Given the description of an element on the screen output the (x, y) to click on. 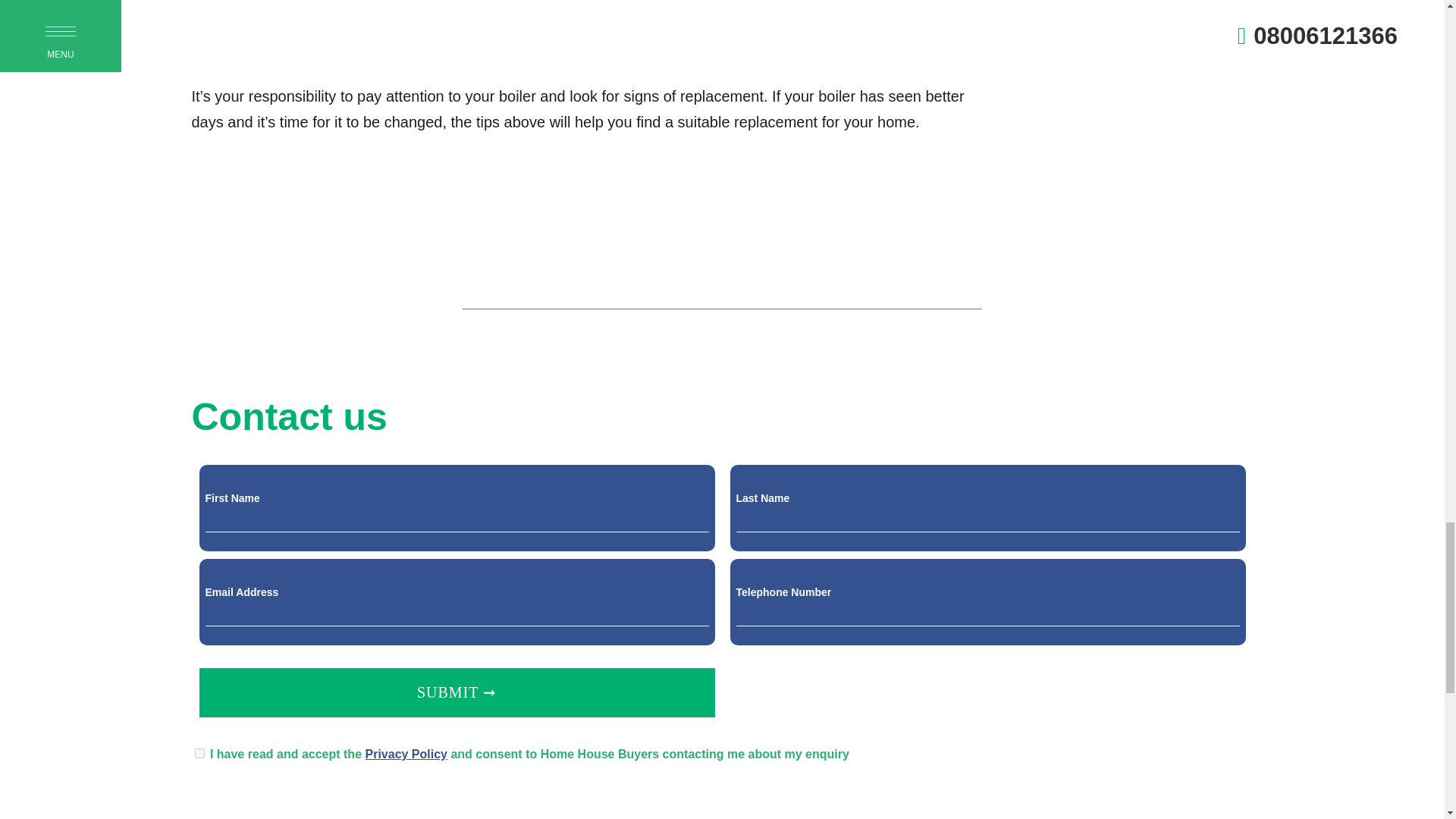
1 (198, 753)
0800 612 1366 (635, 291)
Privacy Policy (405, 753)
